Given the description of an element on the screen output the (x, y) to click on. 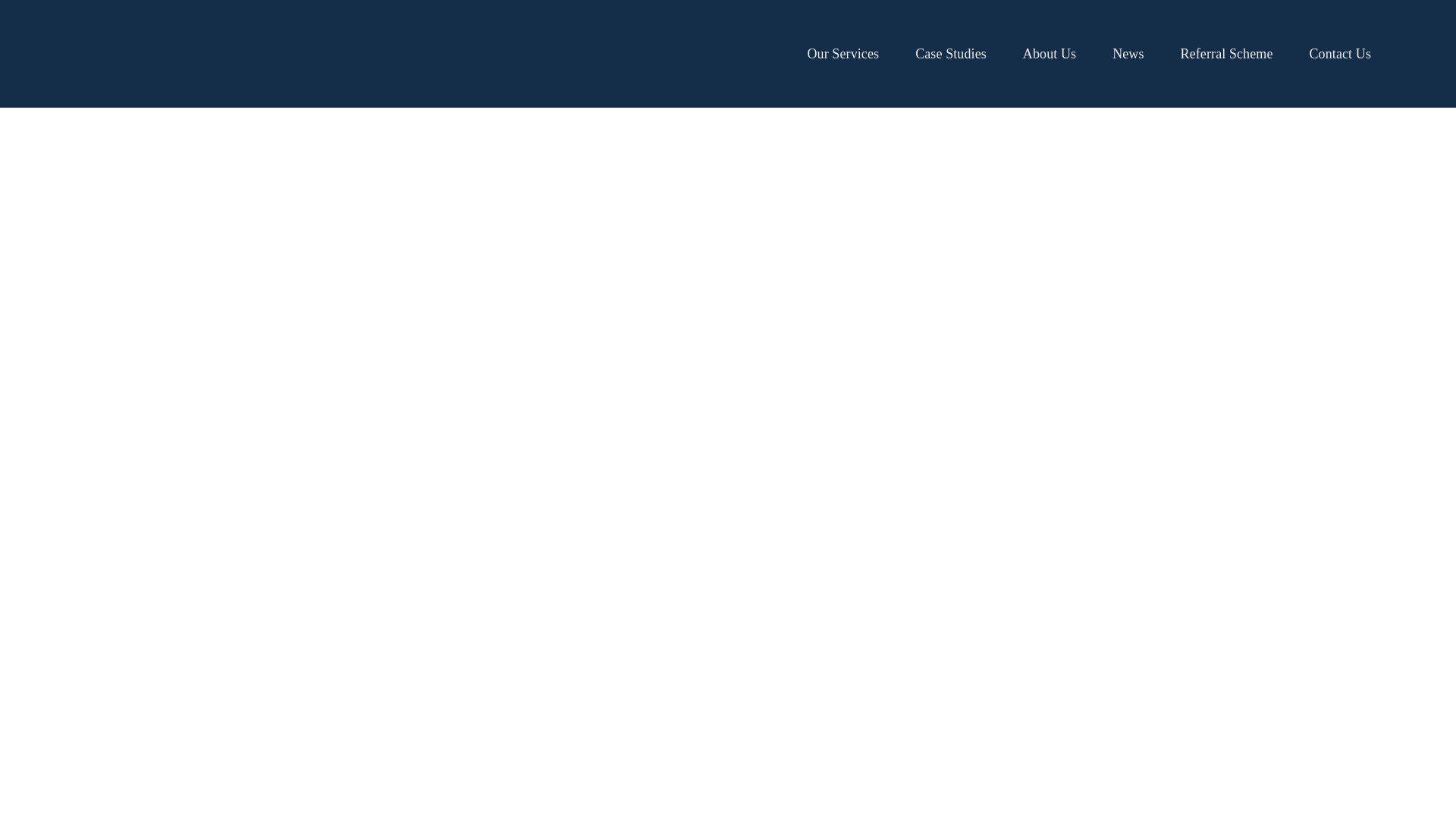
News (1127, 53)
Referral Scheme (1226, 53)
Case Studies (951, 53)
Contact Us (1339, 53)
Our Services (842, 53)
About Us (1049, 53)
